Given the description of an element on the screen output the (x, y) to click on. 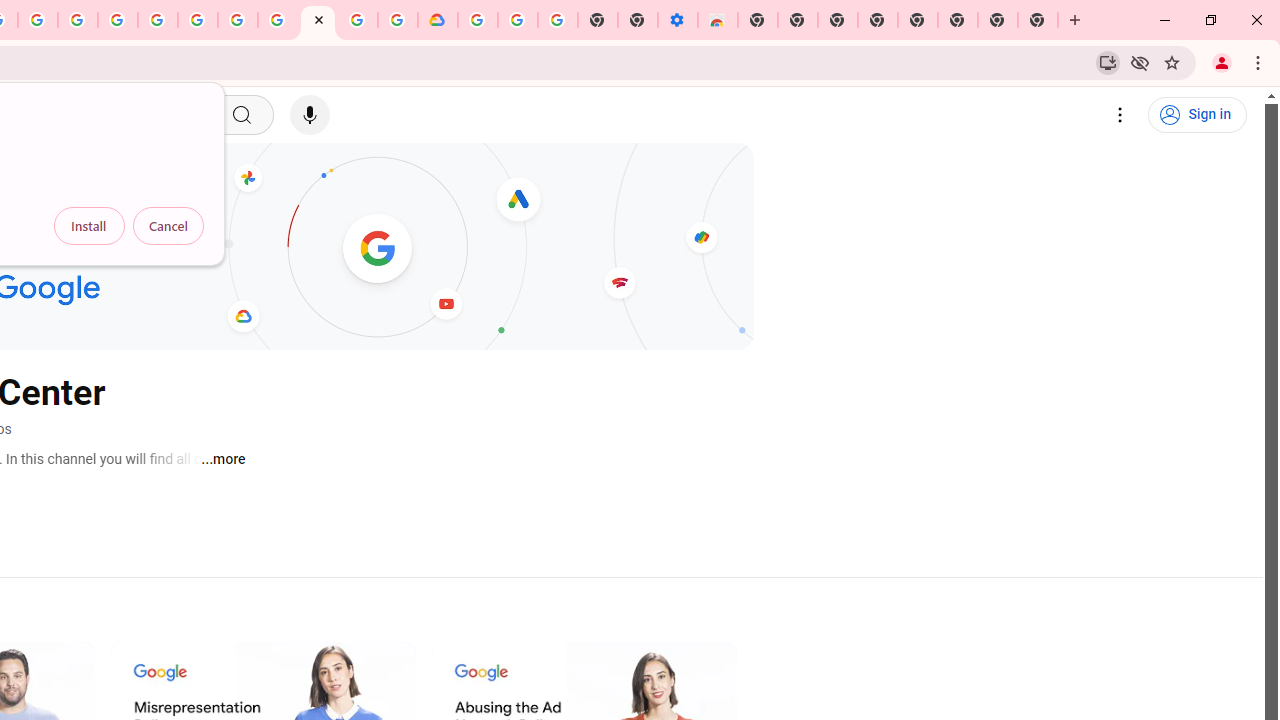
Settings - Accessibility (677, 20)
New Tab (1037, 20)
Google Transparency Center - YouTube (317, 20)
New Tab (758, 20)
Create your Google Account (37, 20)
Cancel (168, 225)
Google Account Help (237, 20)
Install (89, 225)
